Given the description of an element on the screen output the (x, y) to click on. 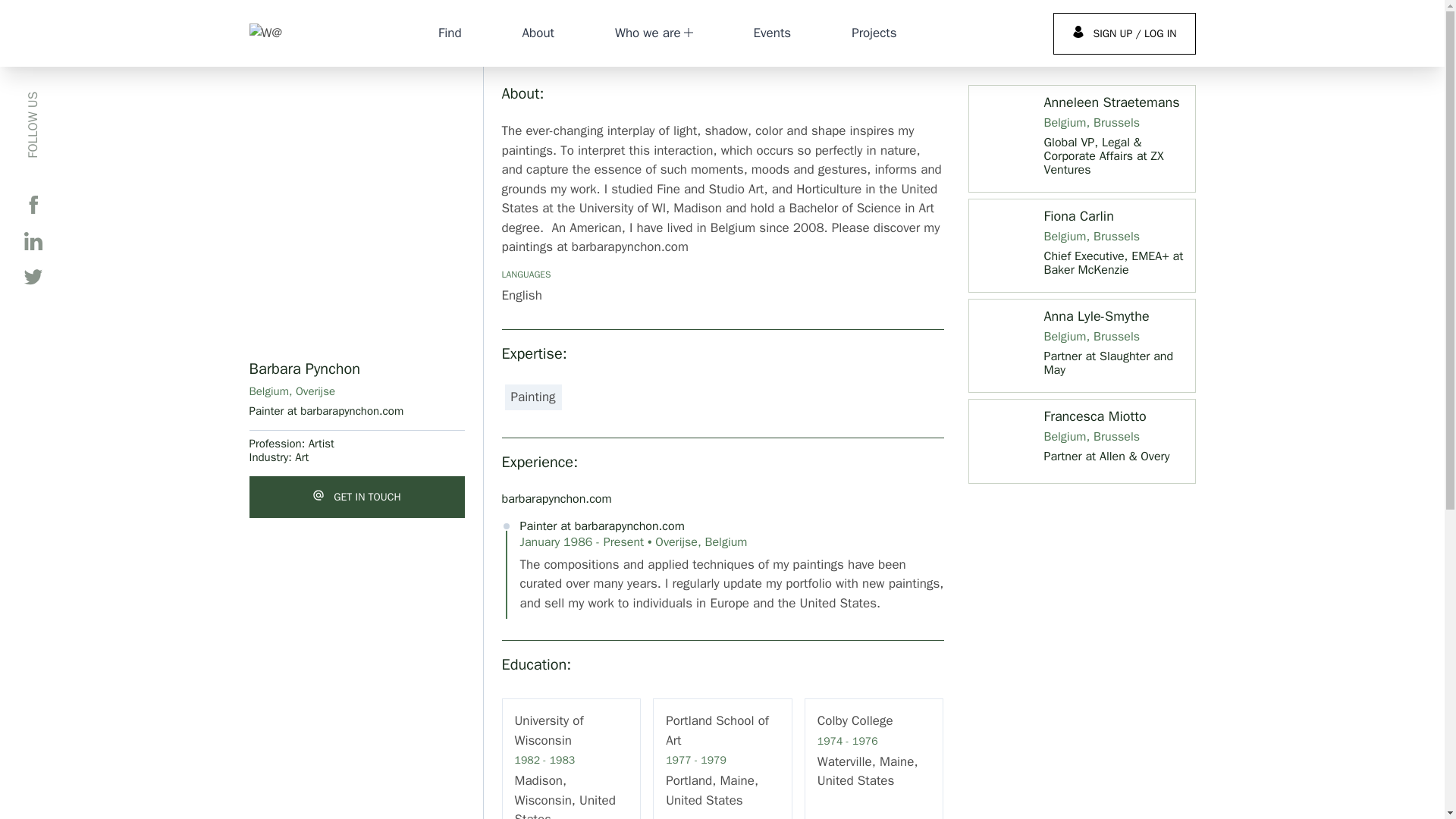
Events (772, 33)
Who we are (654, 33)
GET IN TOUCH (356, 496)
Find (449, 33)
Projects (873, 33)
About (538, 33)
